Given the description of an element on the screen output the (x, y) to click on. 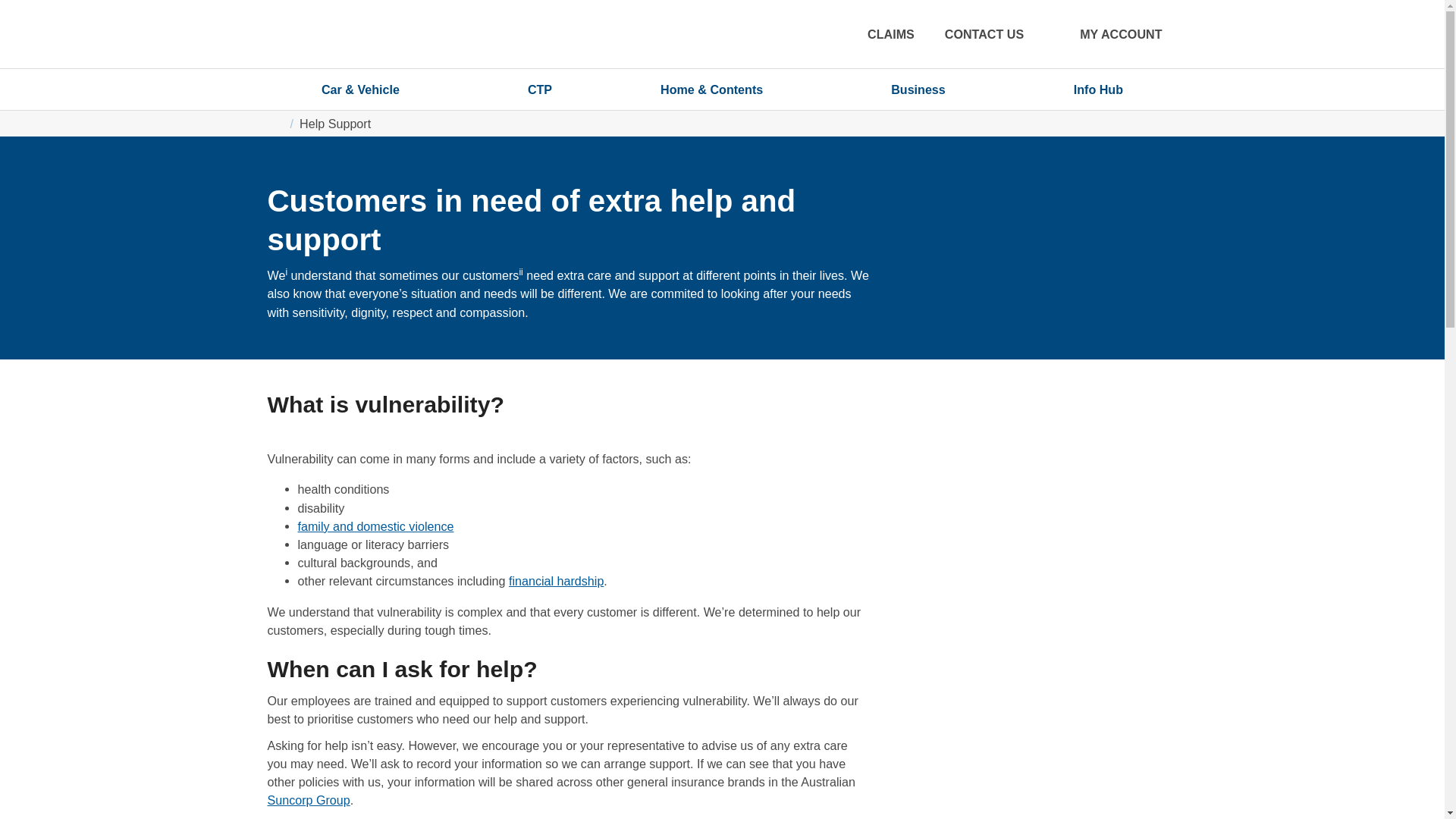
Business (928, 88)
CONTACT US (983, 34)
CLAIMS (890, 34)
MY ACCOUNT (1107, 34)
CTP (539, 88)
